Given the description of an element on the screen output the (x, y) to click on. 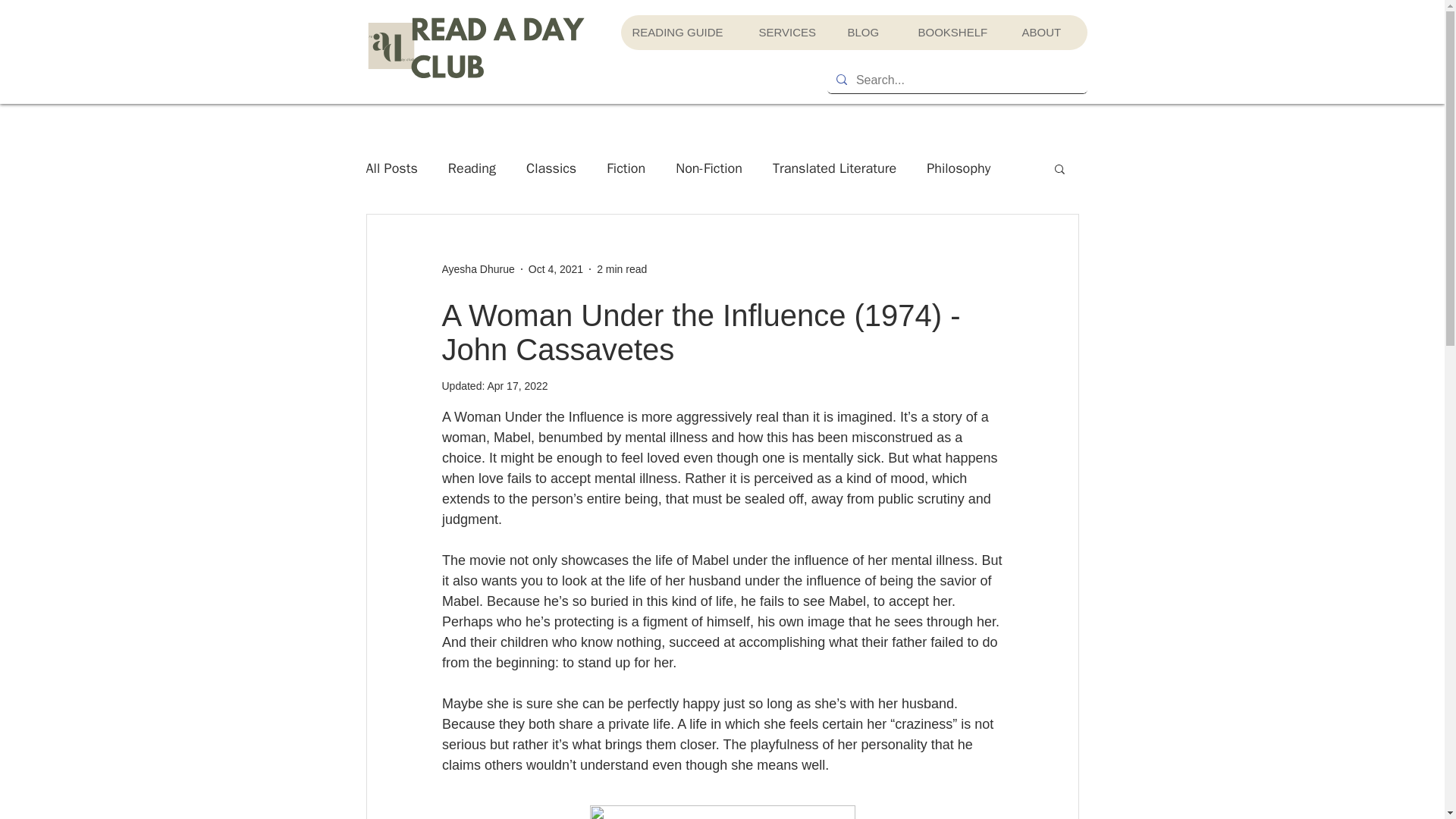
Non-Fiction (708, 167)
Classics (550, 167)
All Posts (390, 167)
Apr 17, 2022 (516, 386)
Translated Literature (834, 167)
BLOG (870, 32)
Philosophy (958, 167)
Fiction (626, 167)
Reading (472, 167)
READING GUIDE (682, 32)
BOOKSHELF (957, 32)
2 min read (621, 268)
Oct 4, 2021 (555, 268)
Ayesha Dhurue (477, 268)
Ayesha Dhurue (477, 268)
